Given the description of an element on the screen output the (x, y) to click on. 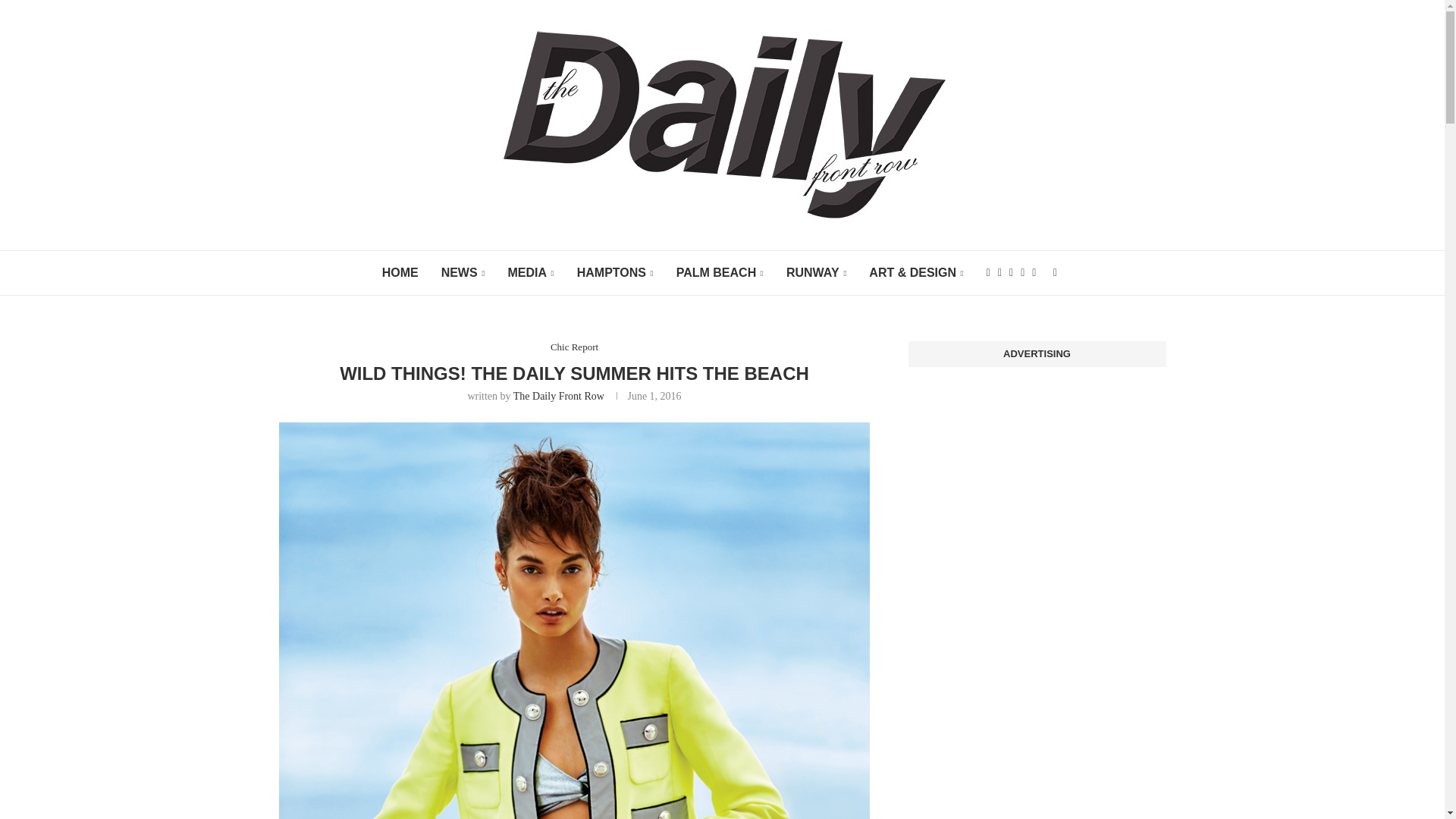
MEDIA (529, 272)
PALM BEACH (719, 272)
Chic Report (574, 346)
NEWS (462, 272)
The Daily Front Row (558, 396)
HAMPTONS (614, 272)
RUNWAY (815, 272)
